Given the description of an element on the screen output the (x, y) to click on. 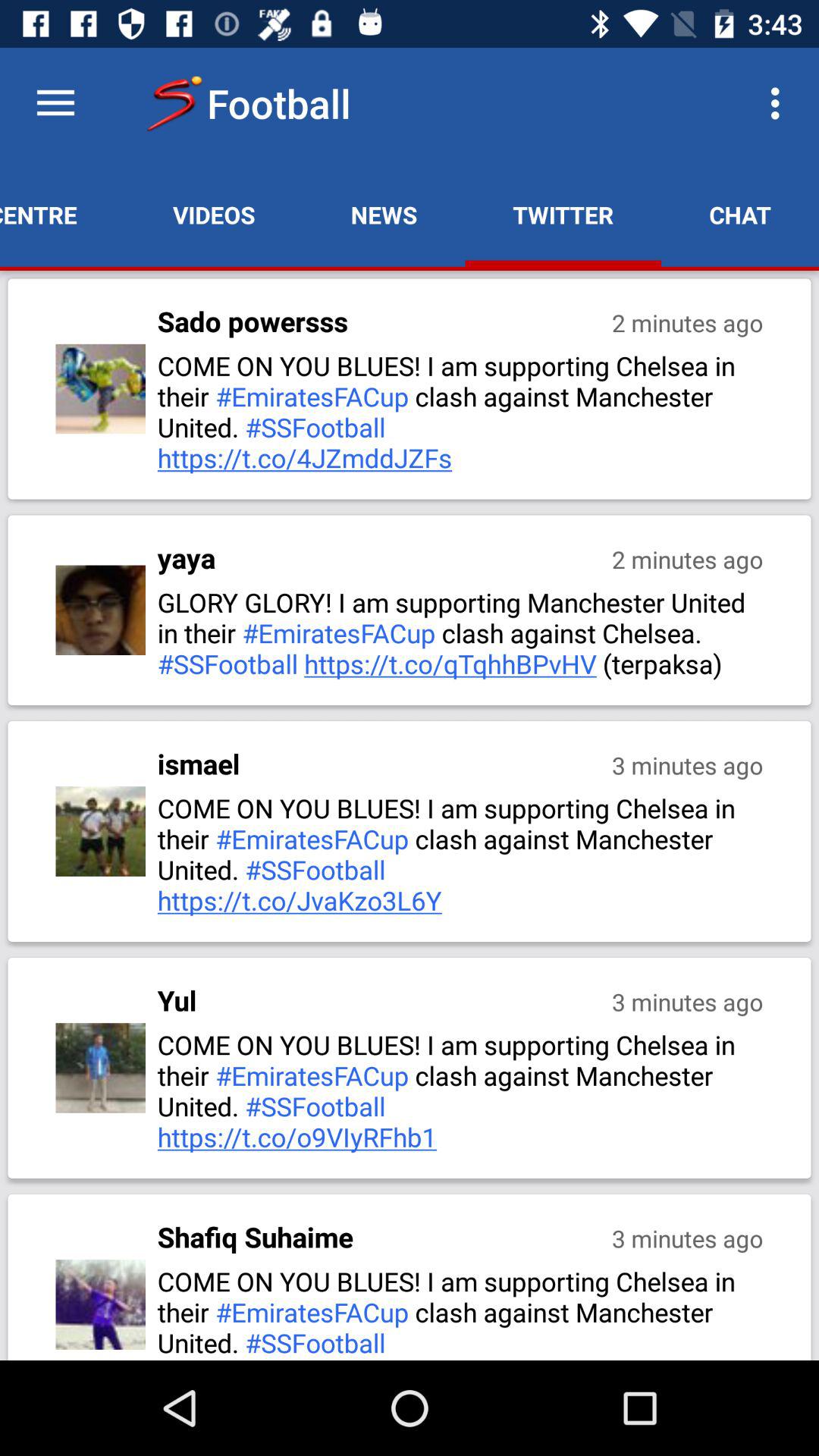
menu option (55, 103)
